Given the description of an element on the screen output the (x, y) to click on. 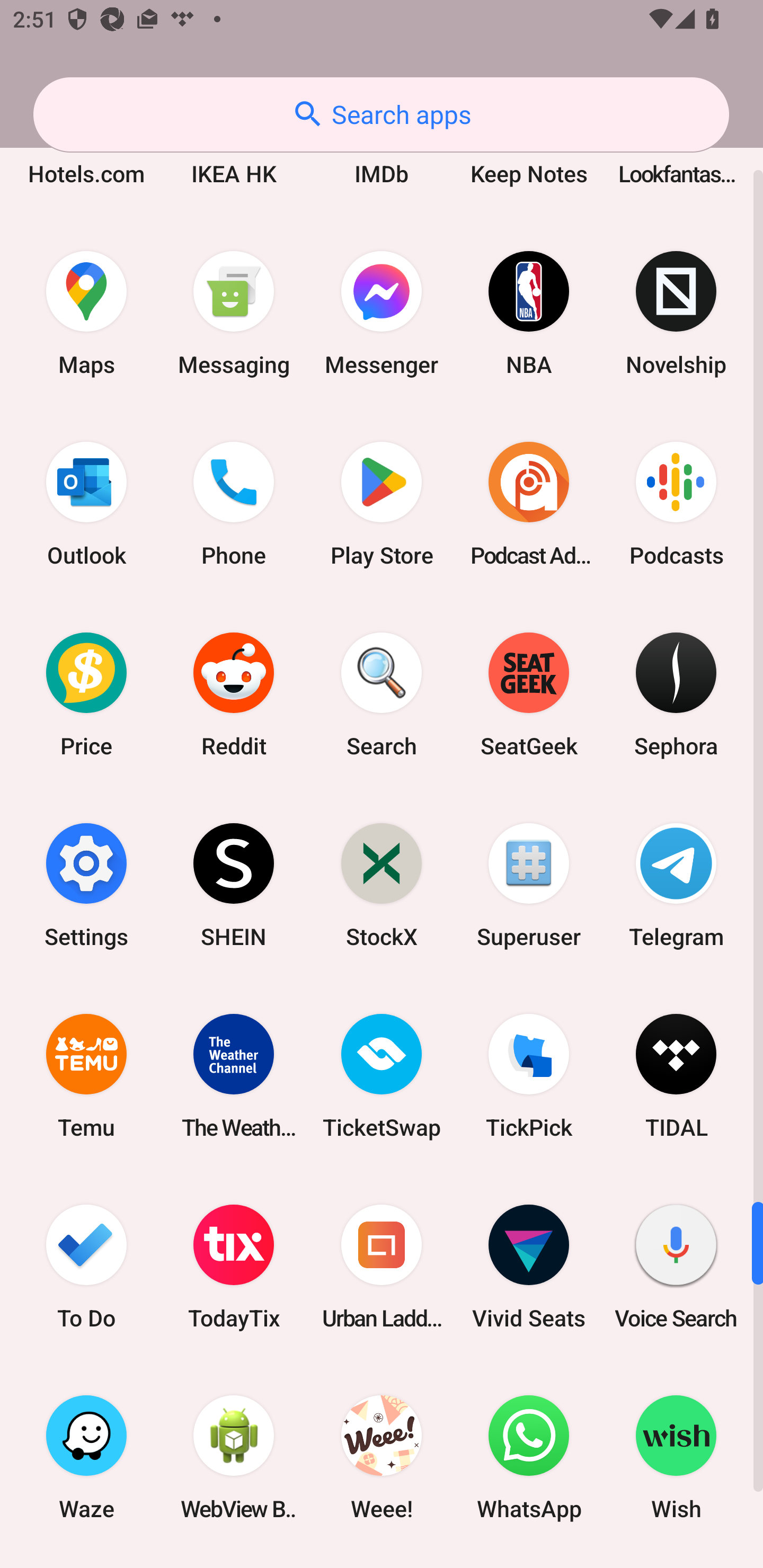
To Do (86, 1266)
